Given the description of an element on the screen output the (x, y) to click on. 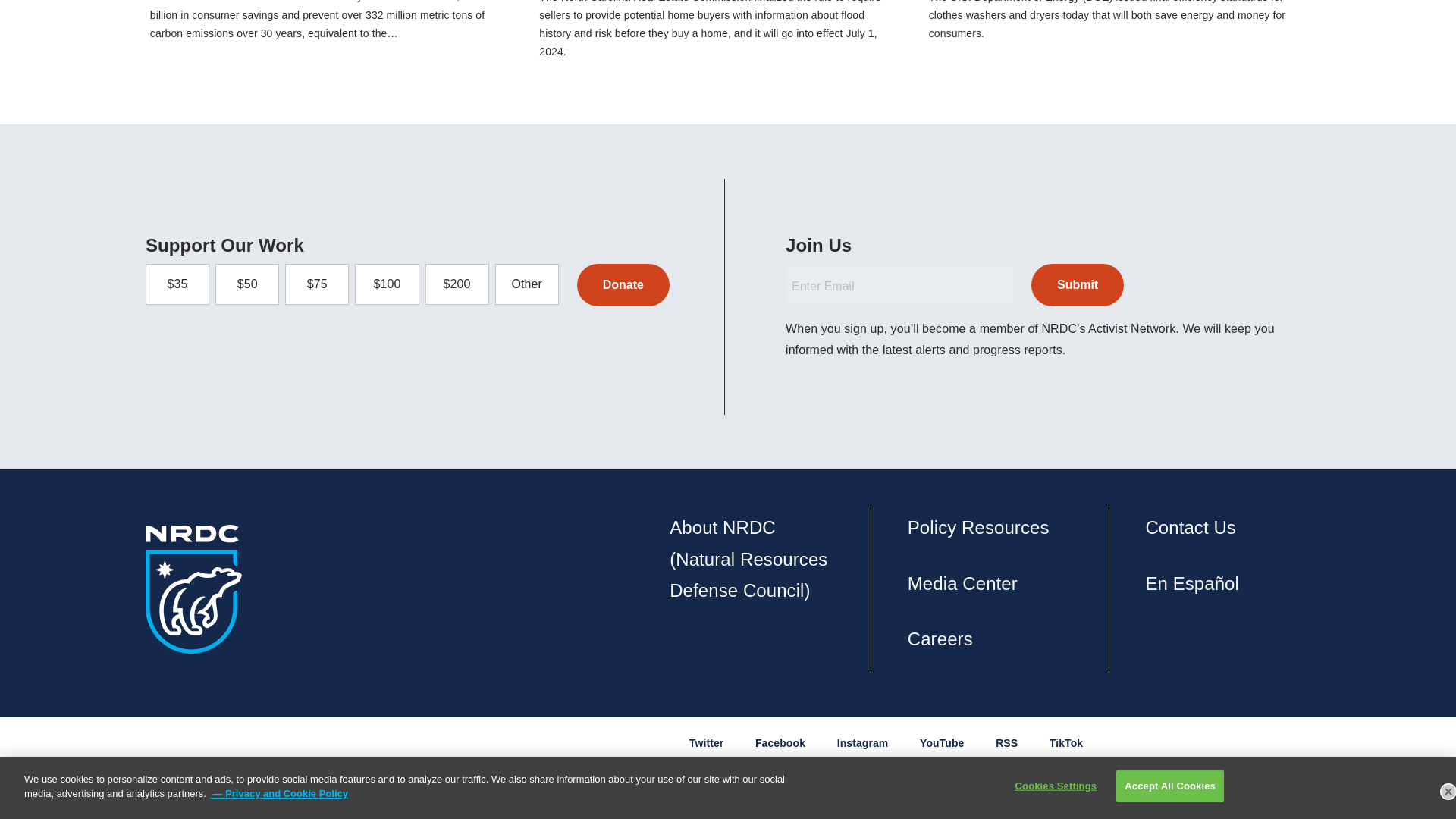
NRDC Logo (193, 588)
